Given the description of an element on the screen output the (x, y) to click on. 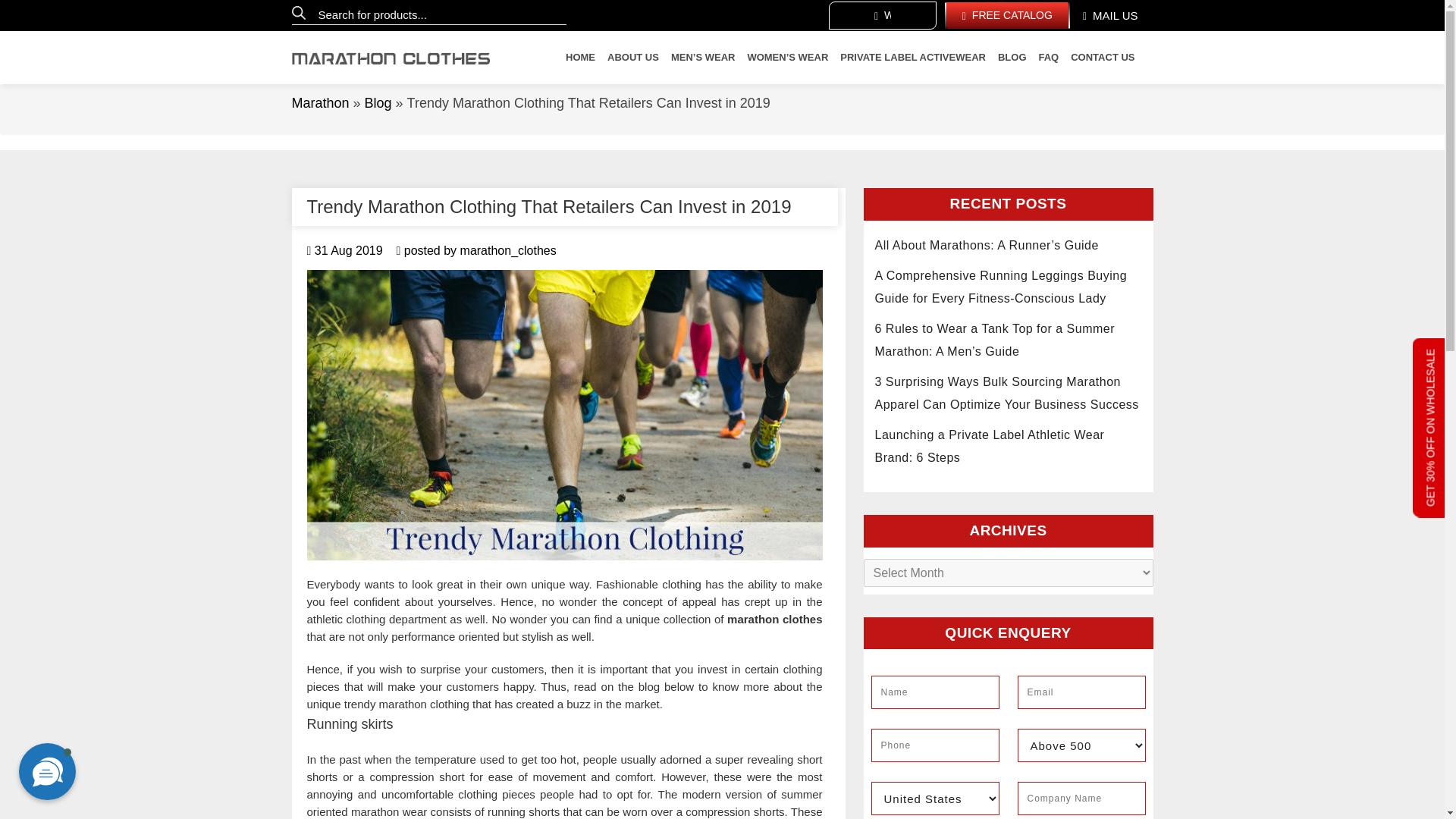
Women's Wear (787, 57)
Contact Us (1102, 57)
FREE CATALOG (1007, 15)
Blog (378, 102)
ABOUT US (633, 57)
Launching a Private Label Athletic Wear Brand: 6 Steps (990, 446)
upload your concept (882, 15)
Men's Wear (703, 57)
Marathon (320, 102)
Private Label Activewear (912, 57)
marathon clothes (774, 618)
WHITE LABEL (882, 15)
About Us (633, 57)
MAIL US (1110, 15)
